Given the description of an element on the screen output the (x, y) to click on. 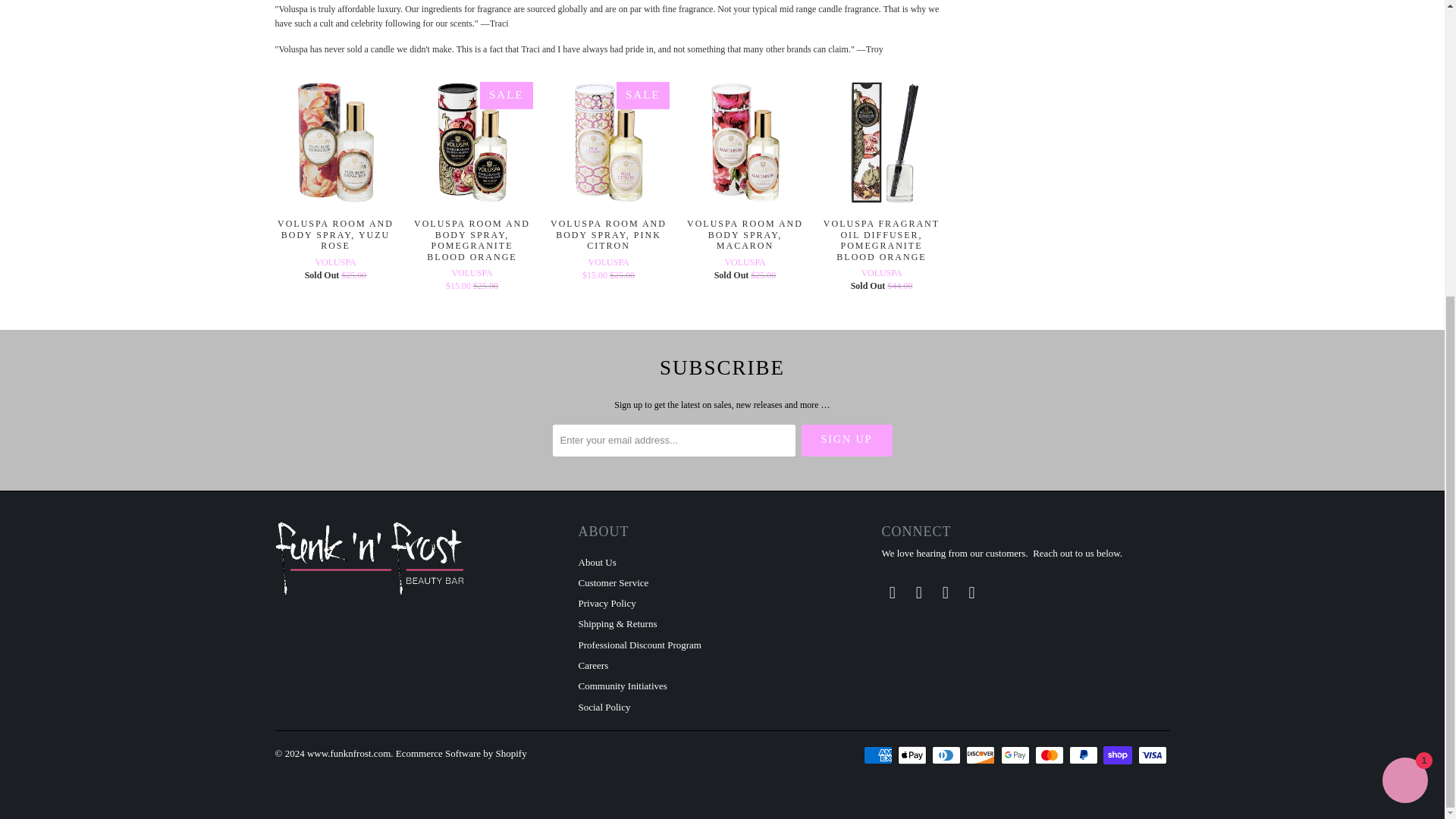
www.funknfrost.com on Instagram (945, 592)
Email www.funknfrost.com (972, 592)
www.funknfrost.com on Pinterest (918, 592)
Sign Up (845, 440)
www.funknfrost.com on Twitter (892, 592)
